Given the description of an element on the screen output the (x, y) to click on. 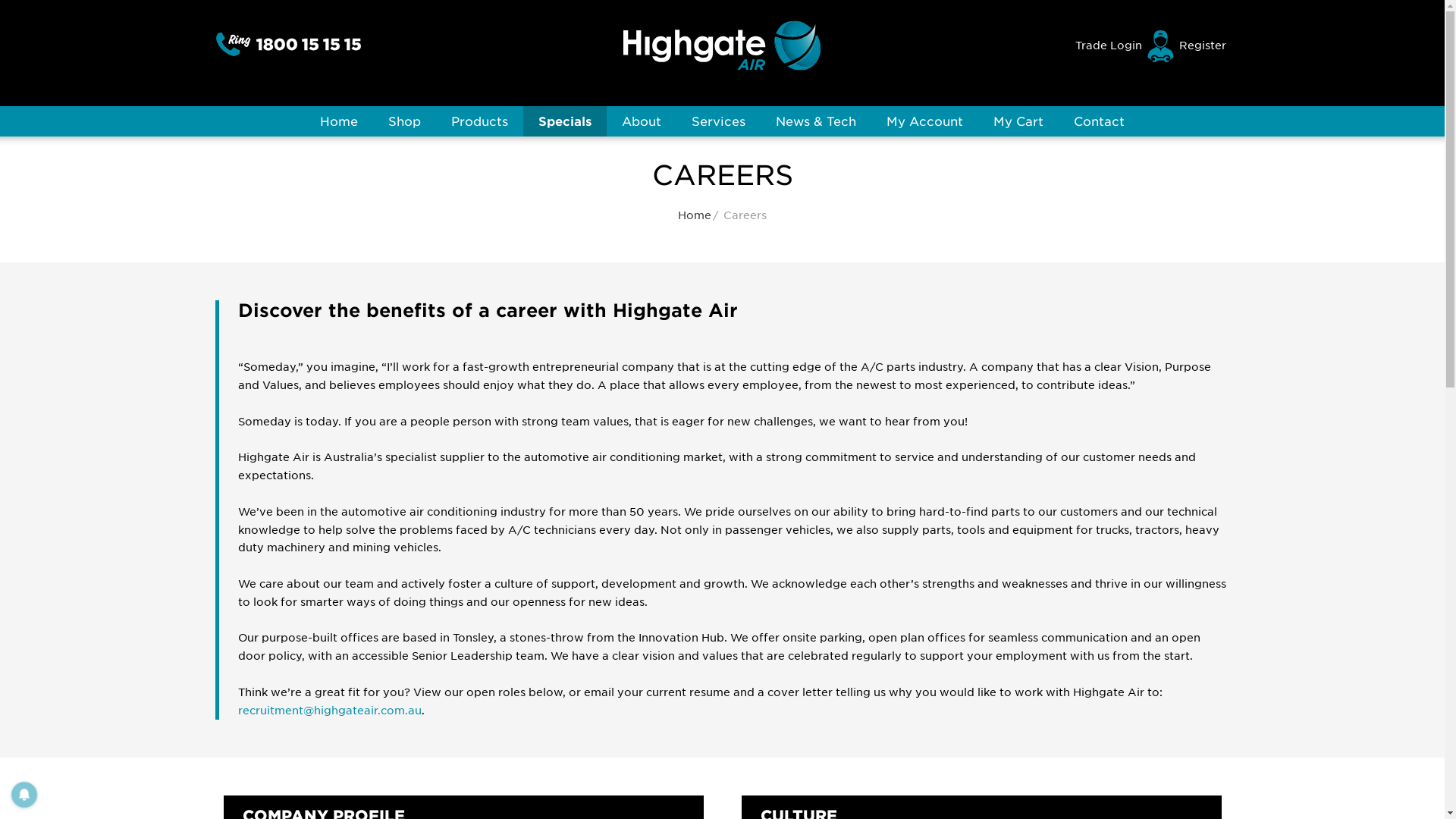
Register Element type: text (1202, 45)
Home Element type: text (338, 121)
Trade Login Element type: text (1108, 45)
10 Selgar Avenue, Tonsley, SA 5042 Element type: text (682, 734)
sales@highgateair.com.au Element type: text (647, 716)
Home Element type: text (694, 215)
Specials Element type: text (564, 121)
1800 15 15 15 Element type: text (610, 680)
19 Wicks Street, Bayswater, WA 6053 Element type: text (692, 752)
recruitment@highgateair.com.au Element type: text (329, 710)
My Cart Element type: text (1018, 121)
My Account Element type: text (924, 121)
08 7221 9621 Element type: text (634, 698)
About Element type: text (641, 121)
Products Element type: text (479, 121)
Shop Element type: text (404, 121)
Contact Element type: text (1098, 121)
Services Element type: text (718, 121)
 Webpushr Element type: text (30, 765)
News & Tech Element type: text (815, 121)
